Given the description of an element on the screen output the (x, y) to click on. 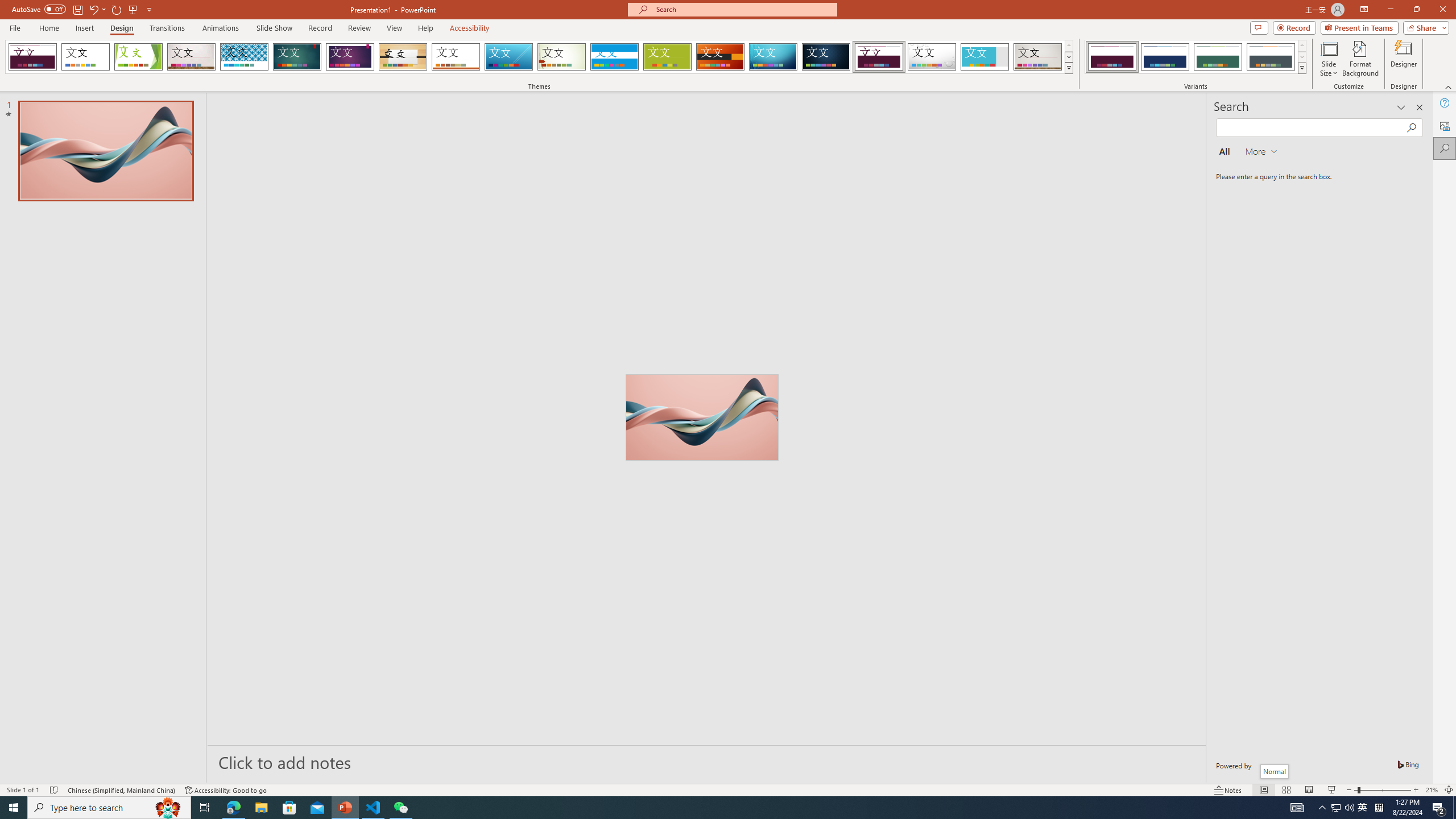
Retrospect (455, 56)
AutomationID: ThemeVariantsGallery (1195, 56)
Dividend Variant 1 (1112, 56)
